Given the description of an element on the screen output the (x, y) to click on. 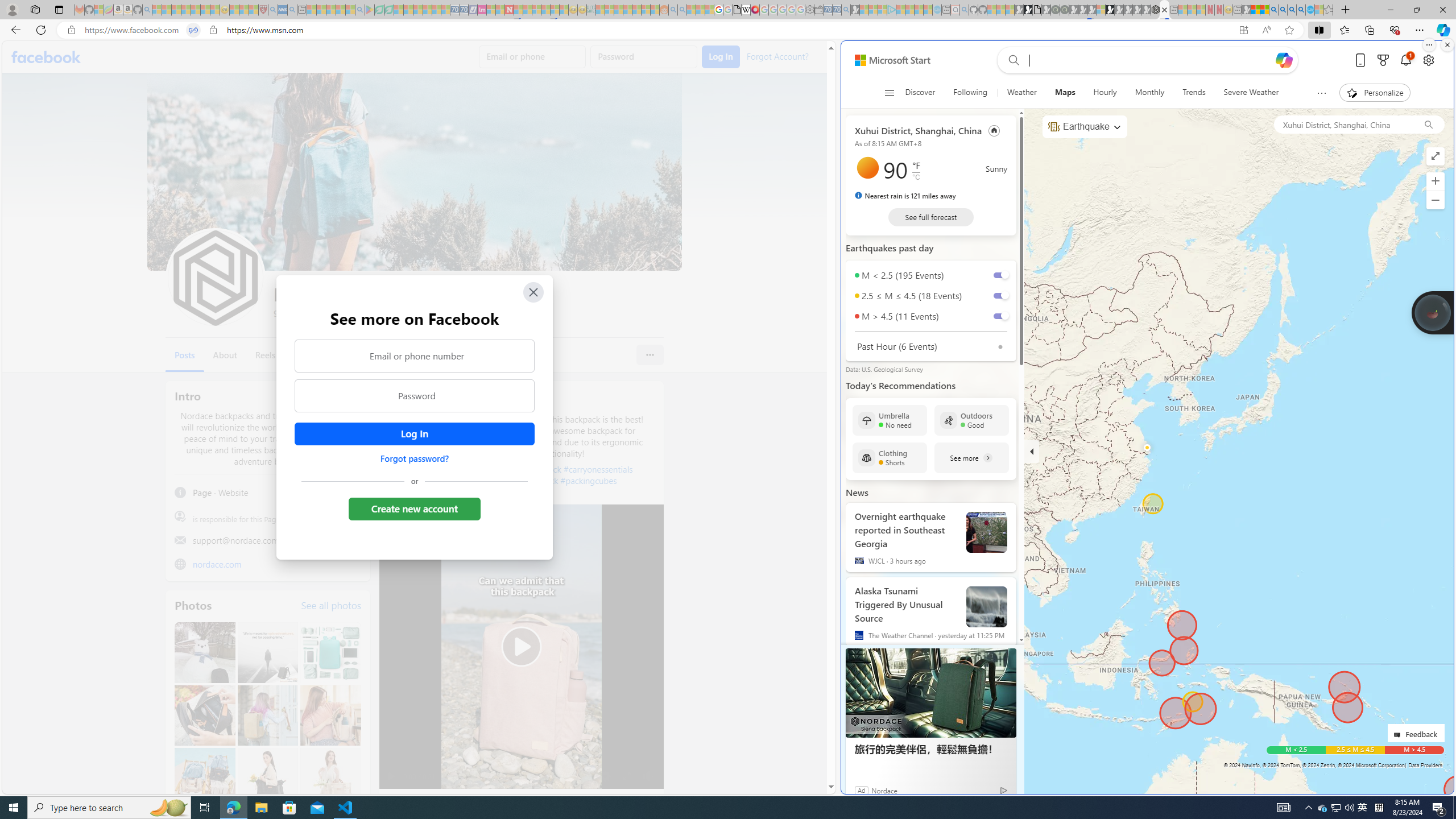
Severe Weather (1251, 92)
Nordace (883, 790)
Bing AI - Search (1272, 9)
Alaska Tsunami Triggered By Unusual Source (986, 606)
Tab actions menu (58, 9)
Accessible login button (414, 433)
Notifications (1405, 60)
Enter your search term (1150, 59)
Join us in planting real trees to help our planet! (1431, 312)
